Given the description of an element on the screen output the (x, y) to click on. 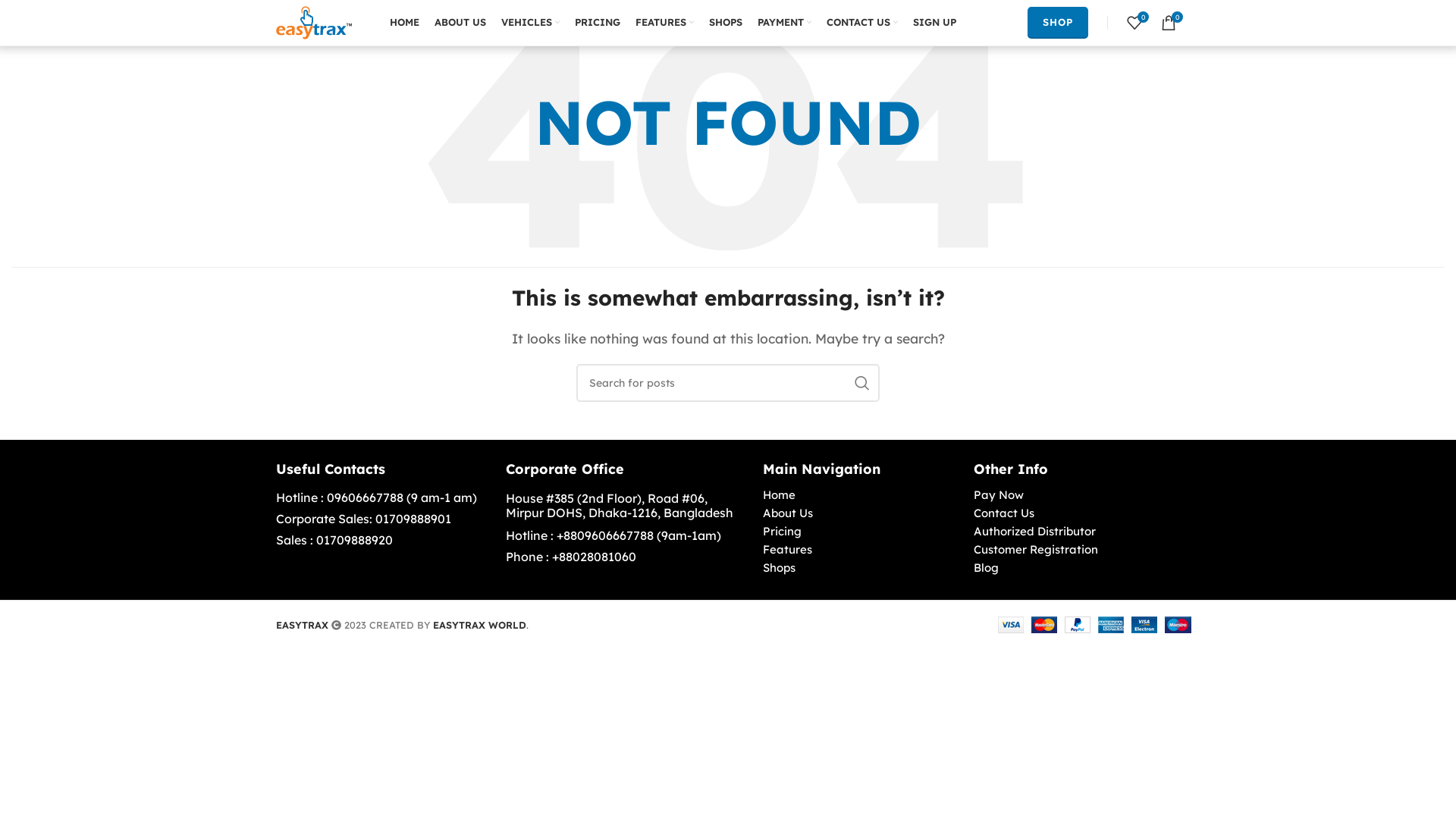
About Us Element type: text (860, 513)
Customer Registration Element type: text (1076, 549)
HOME Element type: text (404, 22)
Features Element type: text (860, 549)
PRICING Element type: text (597, 22)
CONTACT US Element type: text (861, 22)
SHOPS Element type: text (725, 22)
Shops Element type: text (860, 567)
0 Element type: text (1134, 22)
Authorized Distributor Element type: text (1076, 531)
Blog Element type: text (1076, 567)
SHOP Element type: text (1057, 22)
SEARCH Element type: text (861, 382)
0 Element type: text (1168, 22)
FEATURES Element type: text (664, 22)
Contact Us Element type: text (1076, 513)
EASYTRAX Element type: text (302, 624)
Pricing Element type: text (860, 531)
VEHICLES Element type: text (530, 22)
Pay Now Element type: text (1076, 495)
Home Element type: text (860, 495)
SIGN UP Element type: text (934, 22)
PAYMENT Element type: text (784, 22)
ABOUT US Element type: text (460, 22)
EASYTRAX WORLD Element type: text (479, 624)
Search for posts Element type: hover (727, 382)
